Given the description of an element on the screen output the (x, y) to click on. 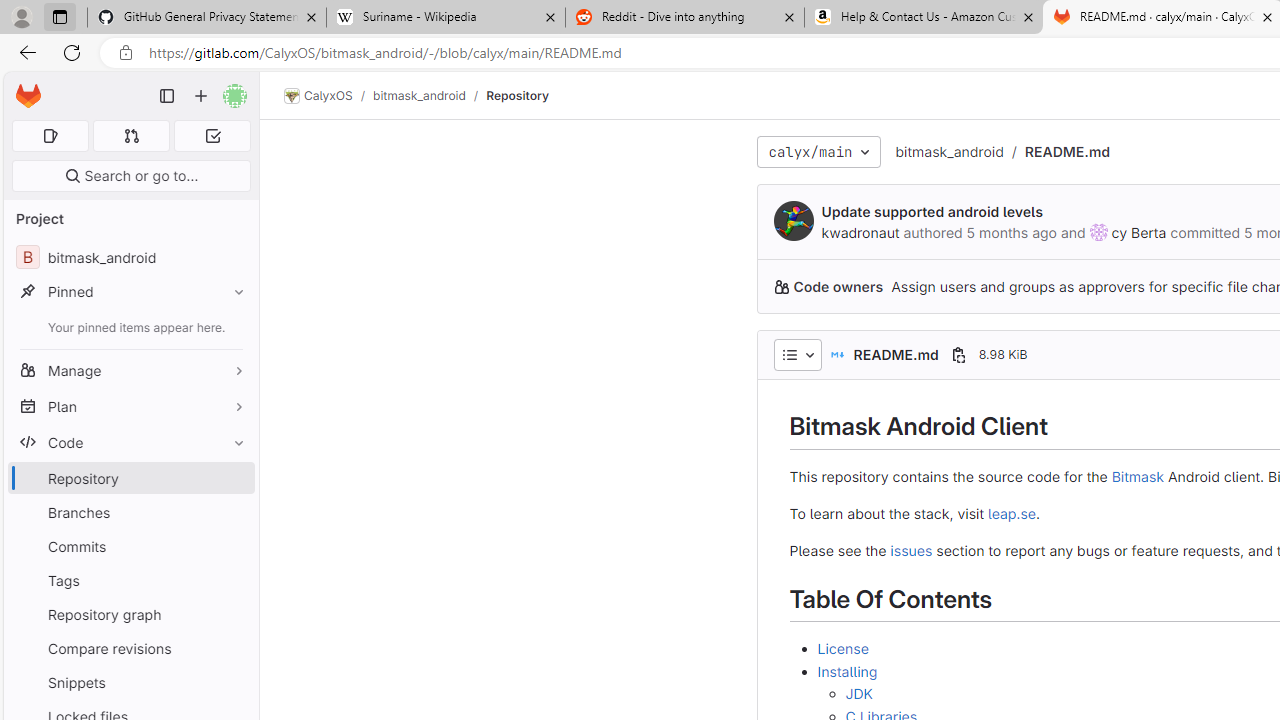
Pin Commits (234, 546)
Commits (130, 546)
kwadronaut (859, 232)
Branches (130, 512)
Tags (130, 579)
Plan (130, 406)
Merge requests 0 (131, 136)
Bitmask (1137, 476)
cy Berta's avatar (1098, 232)
JDK (859, 693)
Commits (130, 546)
